Given the description of an element on the screen output the (x, y) to click on. 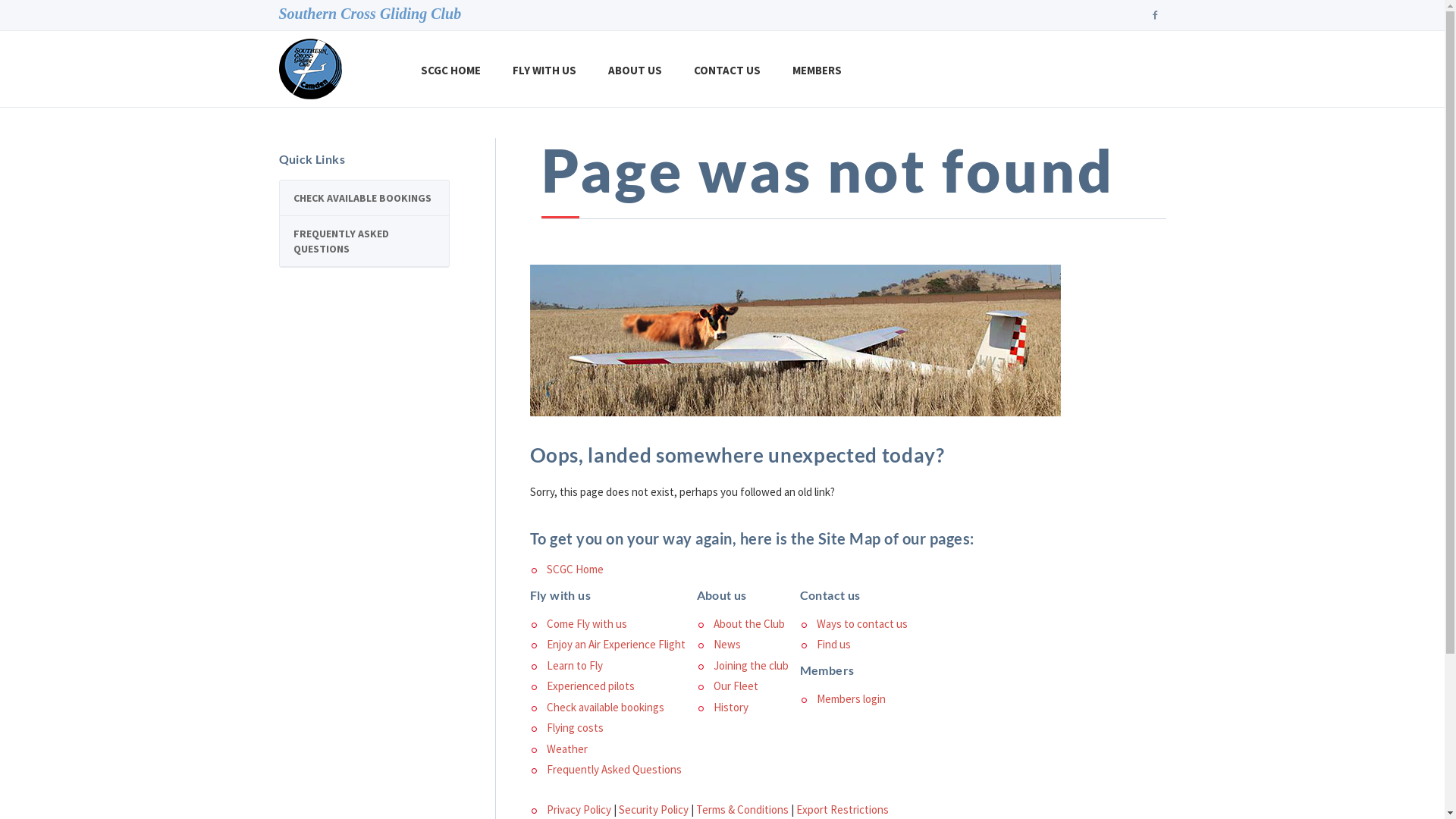
Frequently Asked Questions Element type: text (613, 769)
Flying costs Element type: text (574, 727)
News Element type: text (726, 644)
Enjoy an Air Experience Flight Element type: text (615, 644)
Weather Element type: text (566, 748)
Check available bookings Element type: text (604, 706)
Security Policy Element type: text (653, 809)
CHECK AVAILABLE BOOKINGS Element type: text (363, 197)
Come Fly with us Element type: text (586, 623)
SCGC Home Element type: text (574, 568)
Privacy Policy Element type: text (578, 809)
Ways to contact us Element type: text (860, 623)
FREQUENTLY ASKED QUESTIONS Element type: text (363, 241)
Joining the club Element type: text (749, 665)
Our Fleet Element type: text (734, 685)
MEMBERS Element type: text (816, 69)
Terms & Conditions Element type: text (742, 809)
History Element type: text (729, 706)
ABOUT US Element type: text (634, 69)
FLY WITH US Element type: text (544, 69)
Members login Element type: text (849, 698)
About the Club Element type: text (748, 623)
Export Restrictions Element type: text (842, 809)
Find us Element type: text (832, 644)
Experienced pilots Element type: text (589, 685)
CONTACT US Element type: text (726, 69)
SCGC HOME Element type: text (450, 69)
Learn to Fly Element type: text (574, 665)
